Given the description of an element on the screen output the (x, y) to click on. 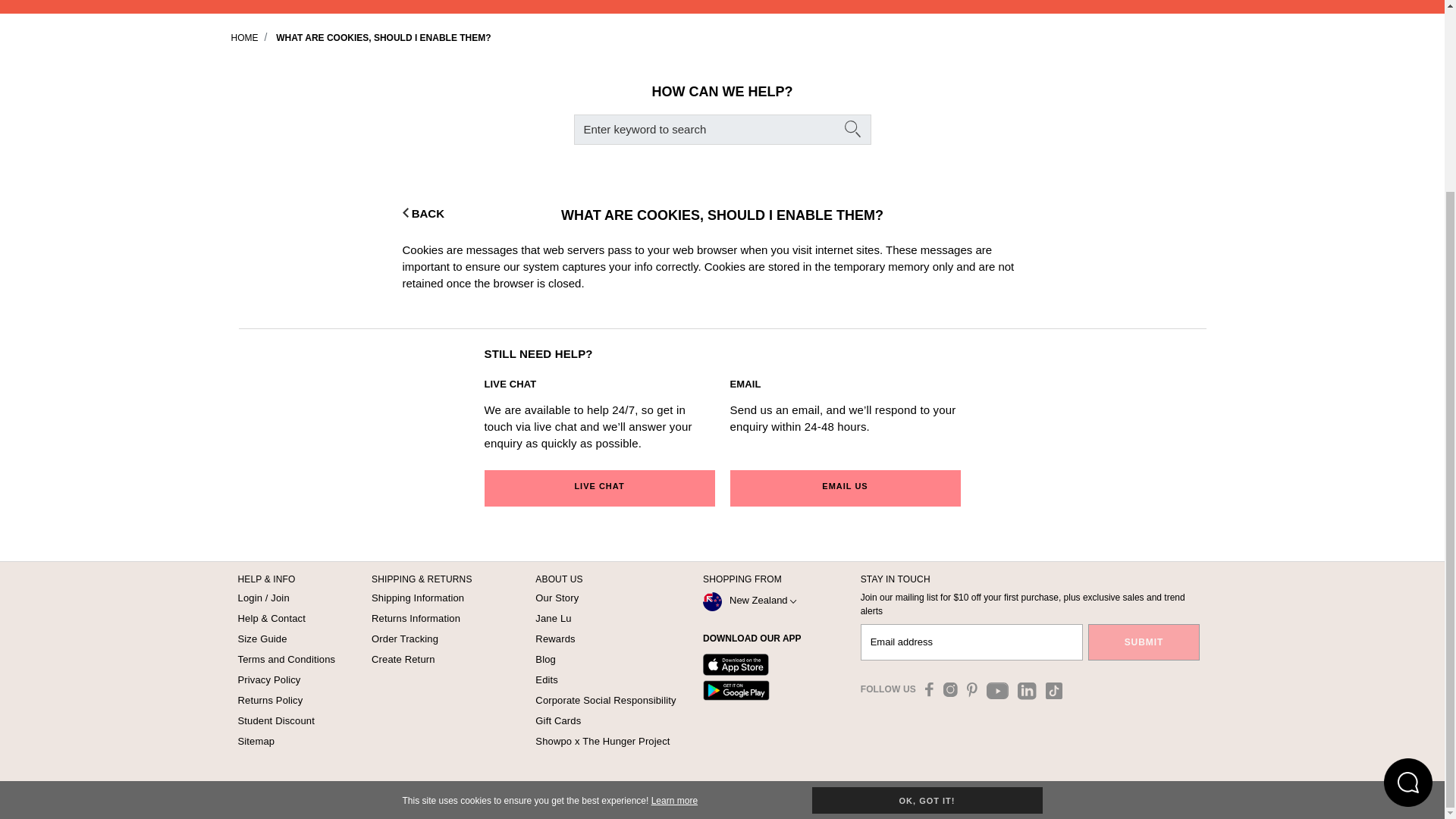
Rewards (555, 638)
Go to Shipping information (417, 597)
Go to Size Guide (262, 638)
Go to Returns information (415, 618)
Go to Blog (545, 659)
Go to Student discount (276, 720)
Sitemap (256, 740)
Go to Returns policy (270, 699)
Go to Edits (546, 679)
Go to Our Story (556, 597)
